Given the description of an element on the screen output the (x, y) to click on. 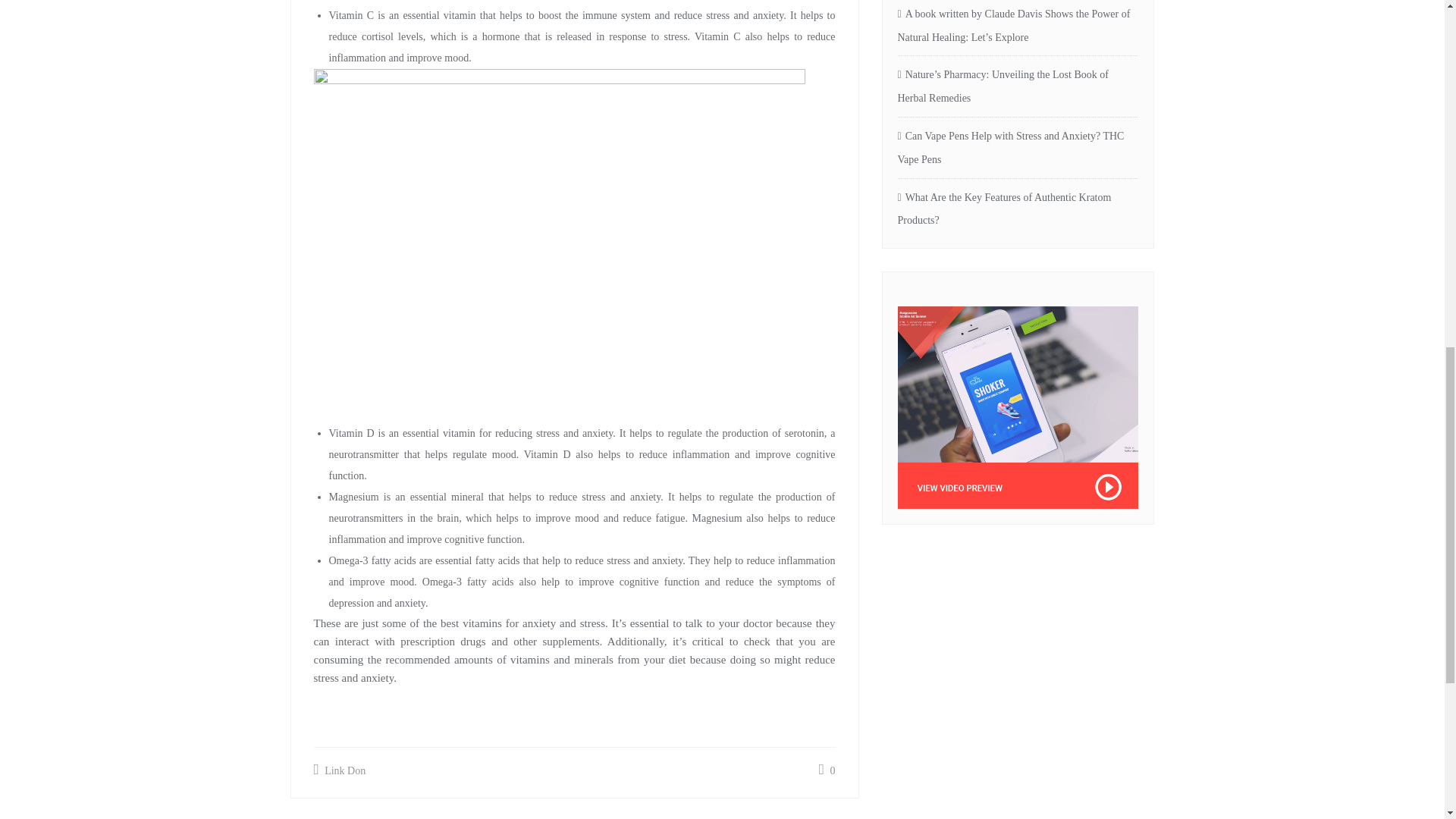
Link Don (340, 770)
Can Vape Pens Help with Stress and Anxiety? THC Vape Pens (1018, 148)
What Are the Key Features of Authentic Kratom Products? (1018, 209)
